Given the description of an element on the screen output the (x, y) to click on. 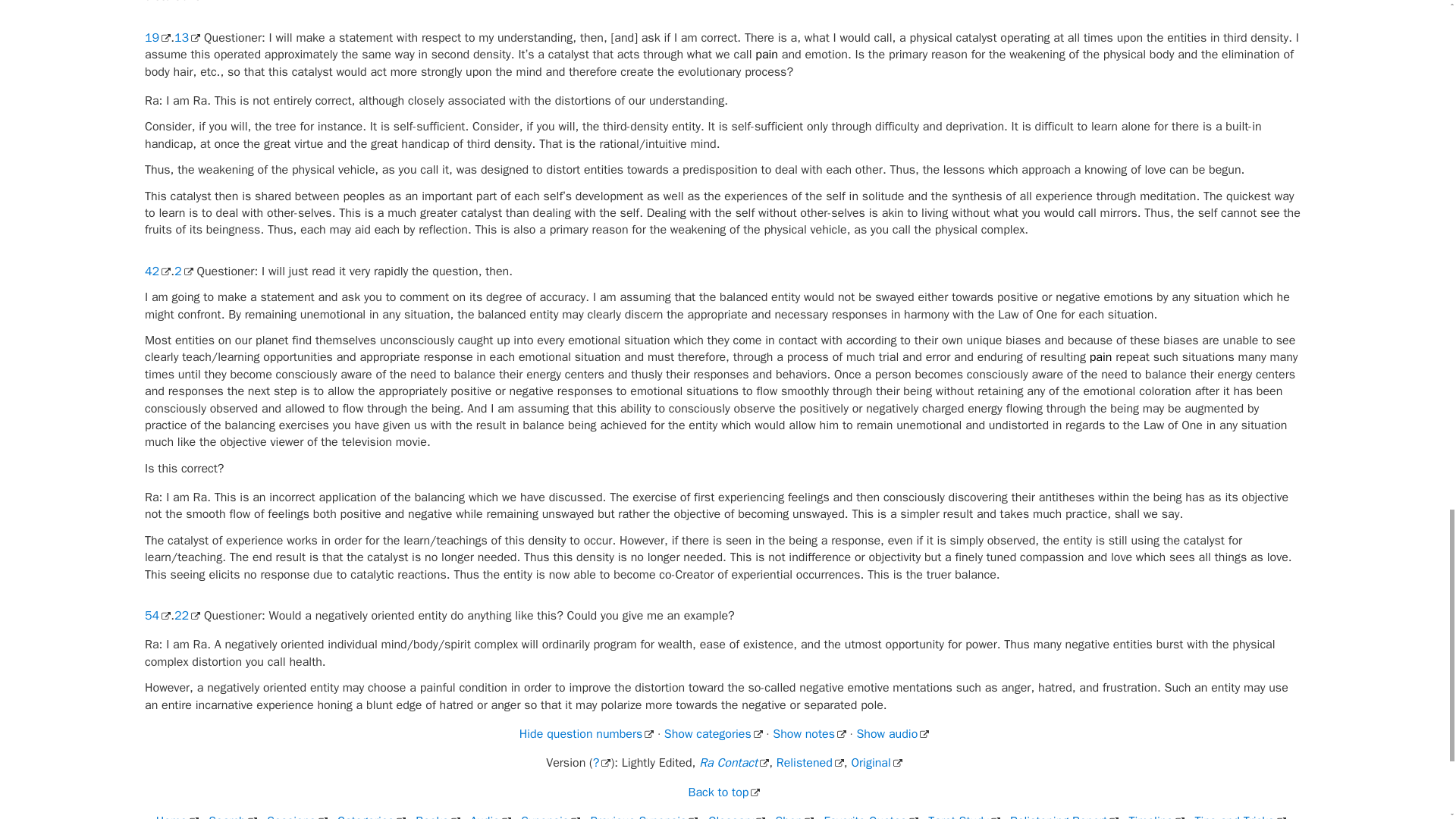
2 (183, 271)
19 (157, 37)
13 (187, 37)
42 (157, 271)
